Given the description of an element on the screen output the (x, y) to click on. 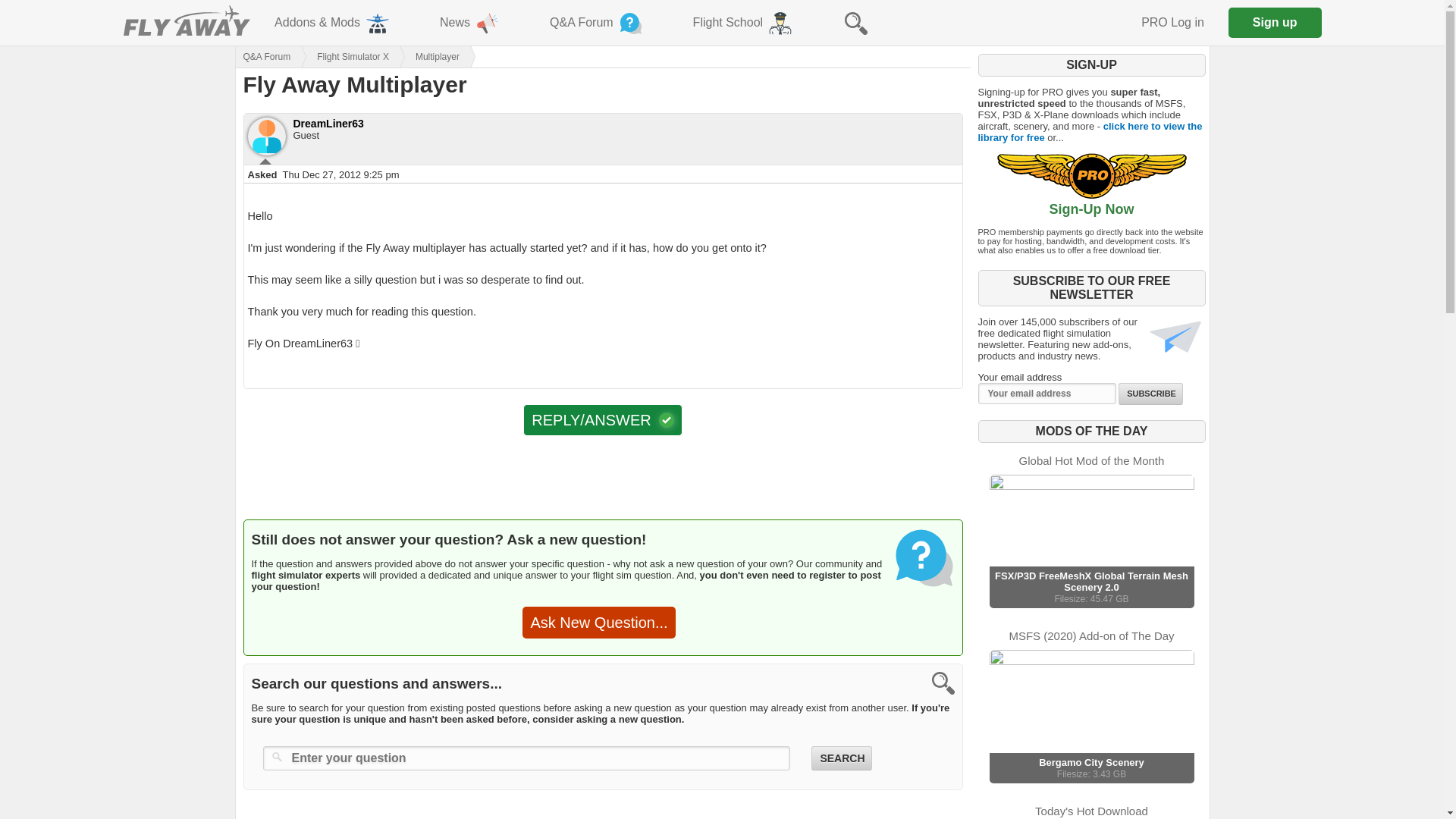
News (469, 22)
Multiplayer (424, 56)
Ask New Question... (598, 622)
Subscribe (1150, 393)
Register with Fly Away Simulation (1275, 22)
Sign-Up Now (1090, 203)
Flight simulation and related news topics (469, 22)
click here to view the library for free (1090, 131)
Post a reply or answer to this question (601, 419)
Search Fly Away Simulation for add-ons and content. (855, 22)
Sign up (1275, 22)
Subscribe (1150, 393)
PRO Log in (1090, 716)
